Given the description of an element on the screen output the (x, y) to click on. 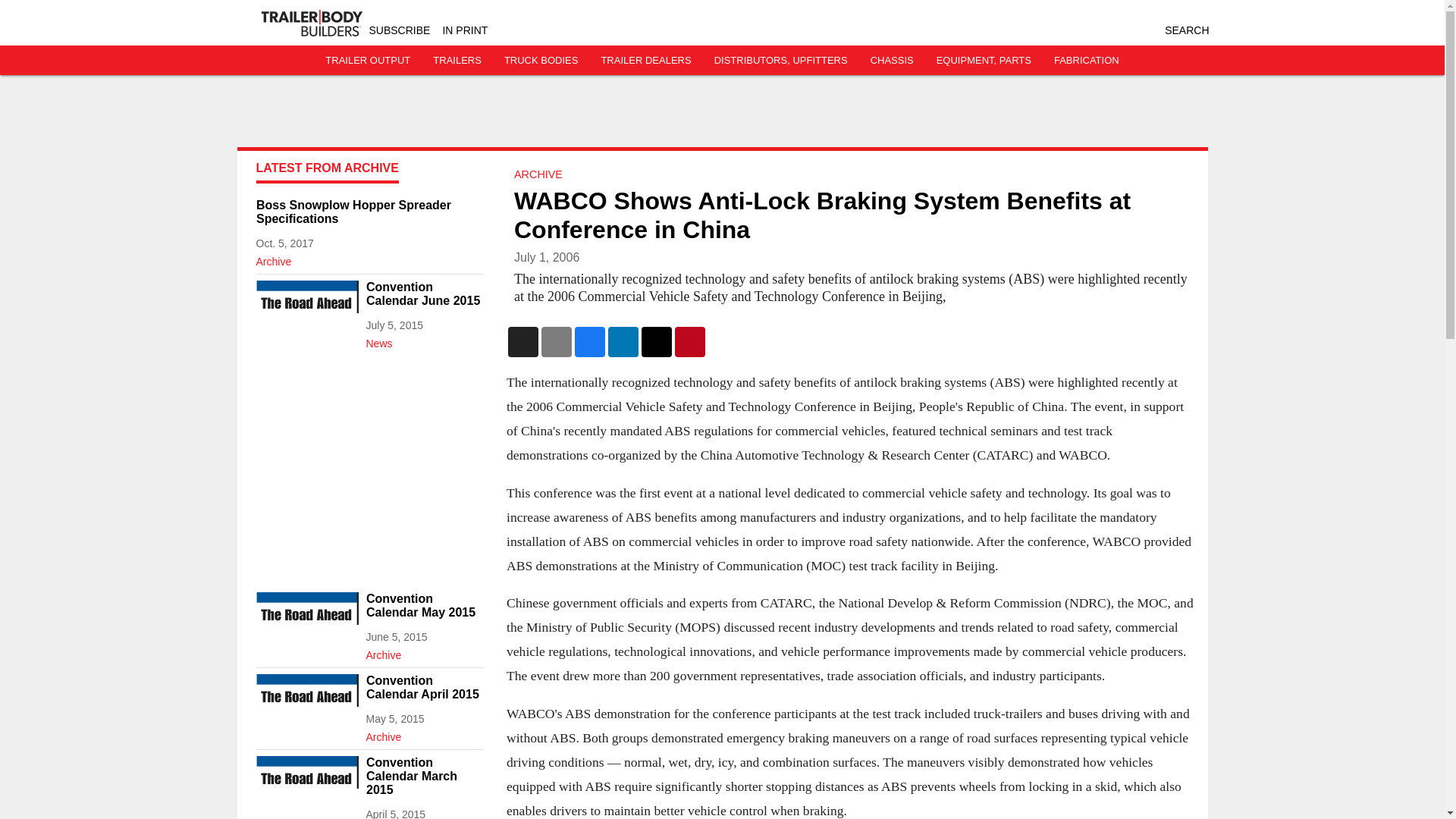
TRAILER OUTPUT (367, 60)
Image (307, 784)
Convention Calendar June 2015 (424, 293)
Convention Calendar April 2015 (424, 687)
FABRICATION (1086, 60)
DISTRIBUTORS, UPFITTERS (780, 60)
Image (307, 620)
CHASSIS (892, 60)
EQUIPMENT, PARTS (983, 60)
TRAILER DEALERS (644, 60)
Convention Calendar May 2015 (424, 605)
Boss Snowplow Hopper Spreader Specifications (369, 212)
ARCHIVE (537, 174)
Image (307, 702)
IN PRINT (464, 30)
